Given the description of an element on the screen output the (x, y) to click on. 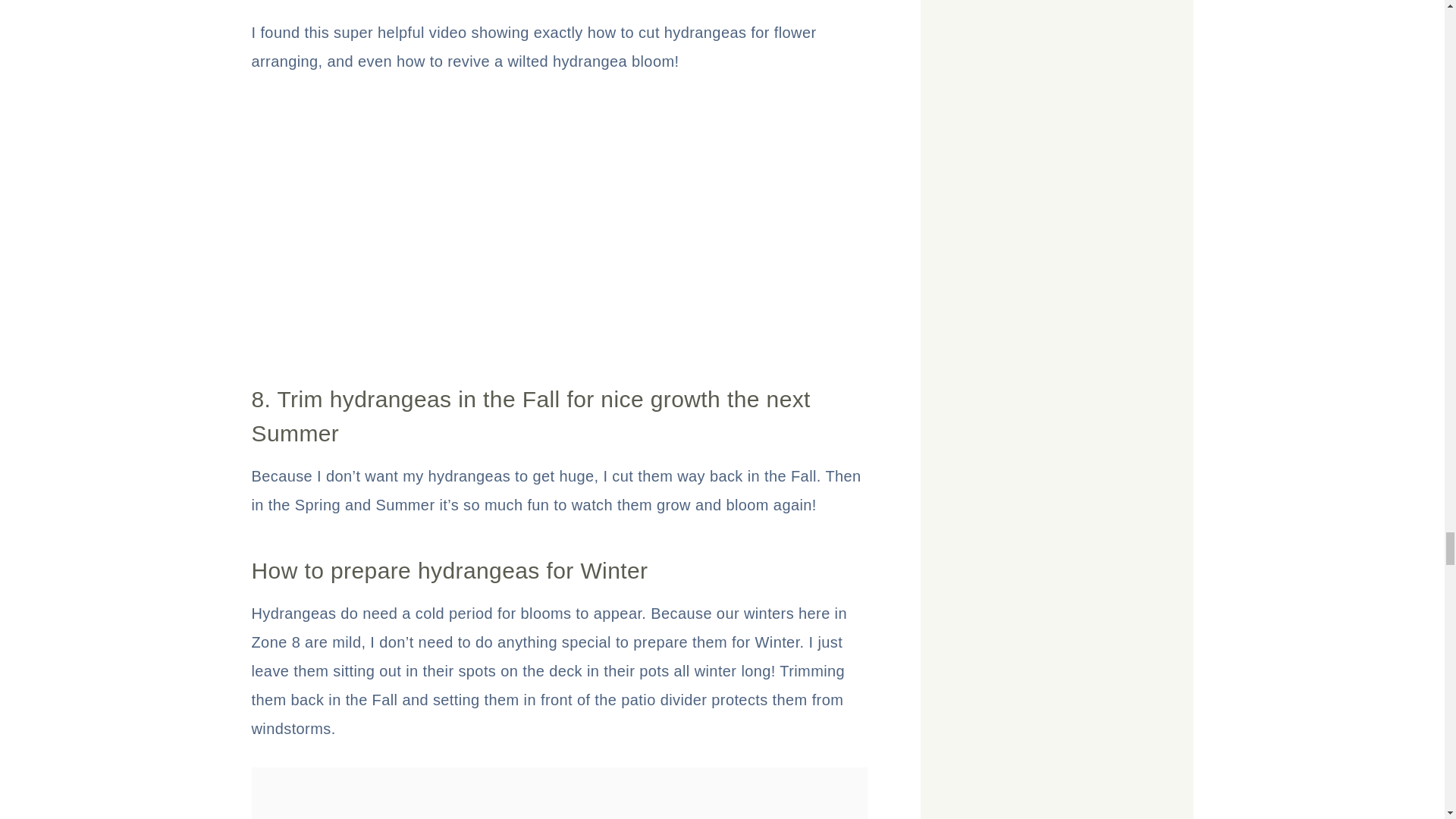
YouTube video player (464, 219)
